Given the description of an element on the screen output the (x, y) to click on. 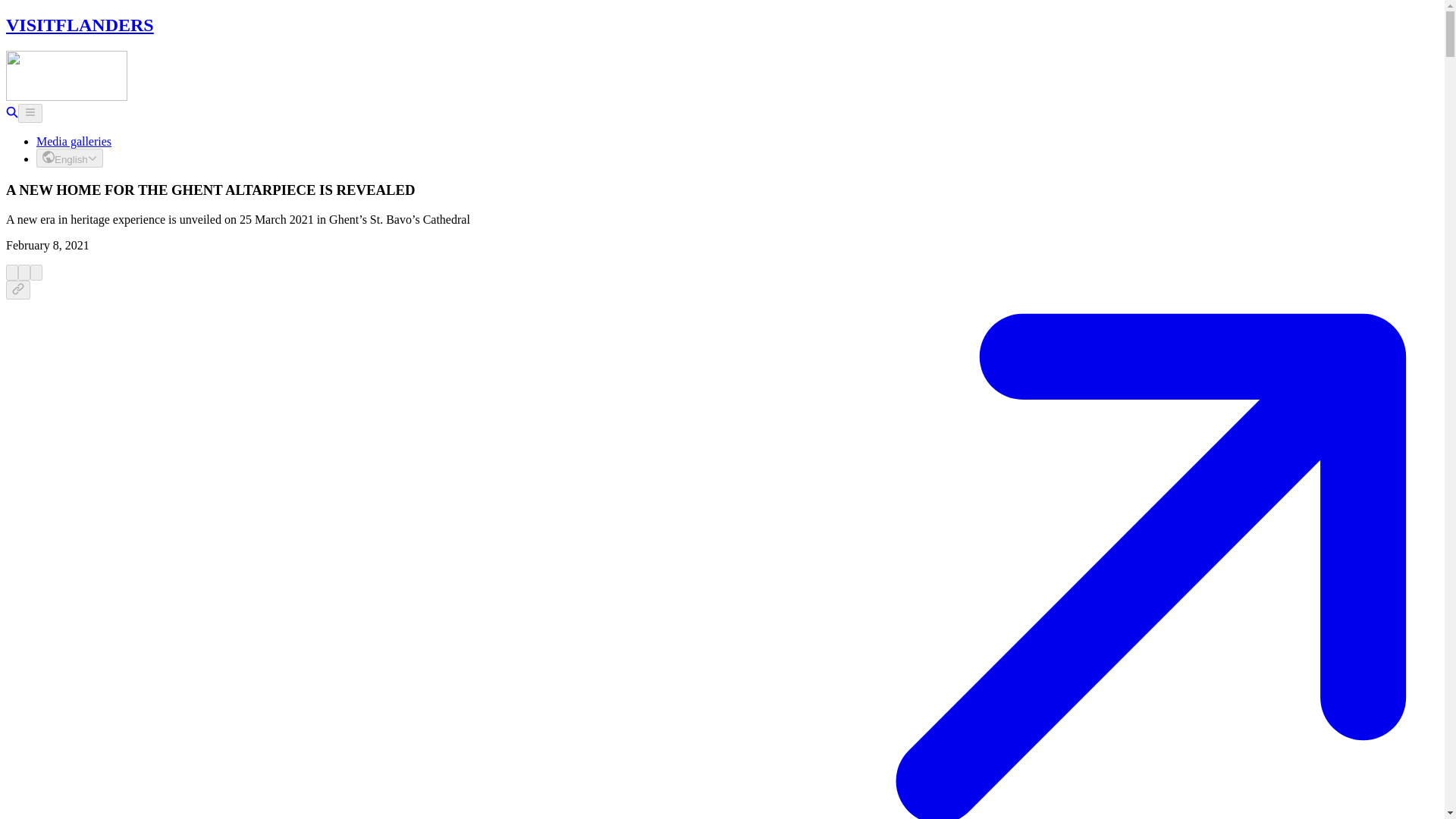
English (69, 157)
Search (11, 113)
Copy URL (17, 289)
Media galleries (74, 141)
Toggle navigation (29, 113)
